Given the description of an element on the screen output the (x, y) to click on. 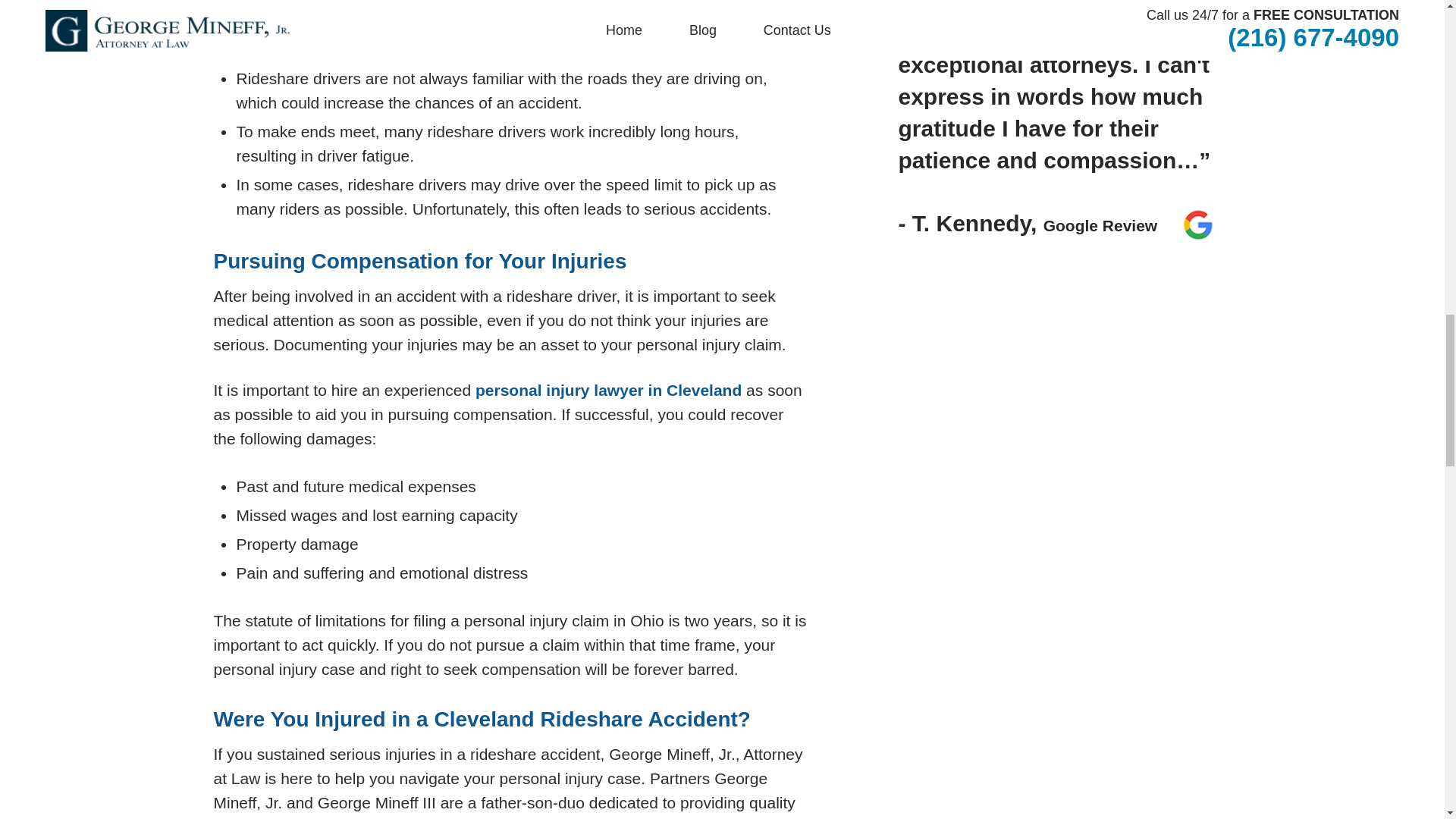
personal injury lawyer in Cleveland (608, 389)
